Given the description of an element on the screen output the (x, y) to click on. 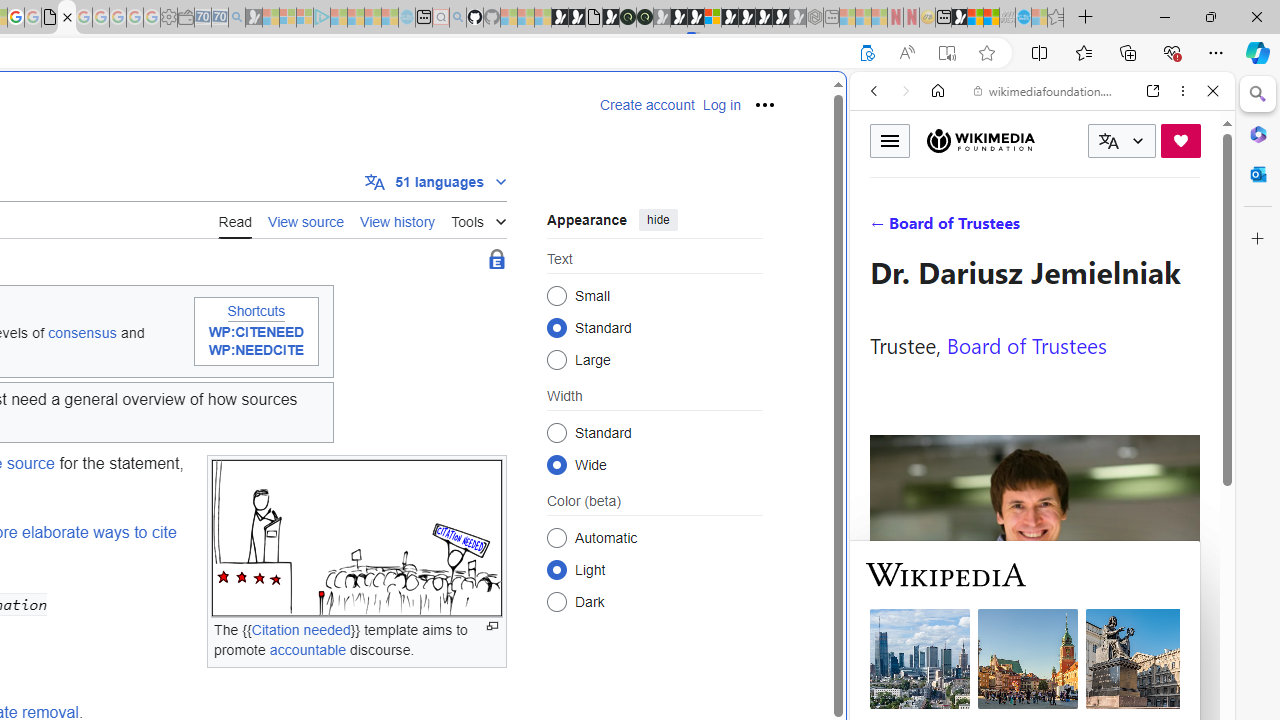
Dark (556, 601)
WP:NEEDCITE (255, 351)
Create account (647, 105)
WP:CITENEED (255, 332)
